Given the description of an element on the screen output the (x, y) to click on. 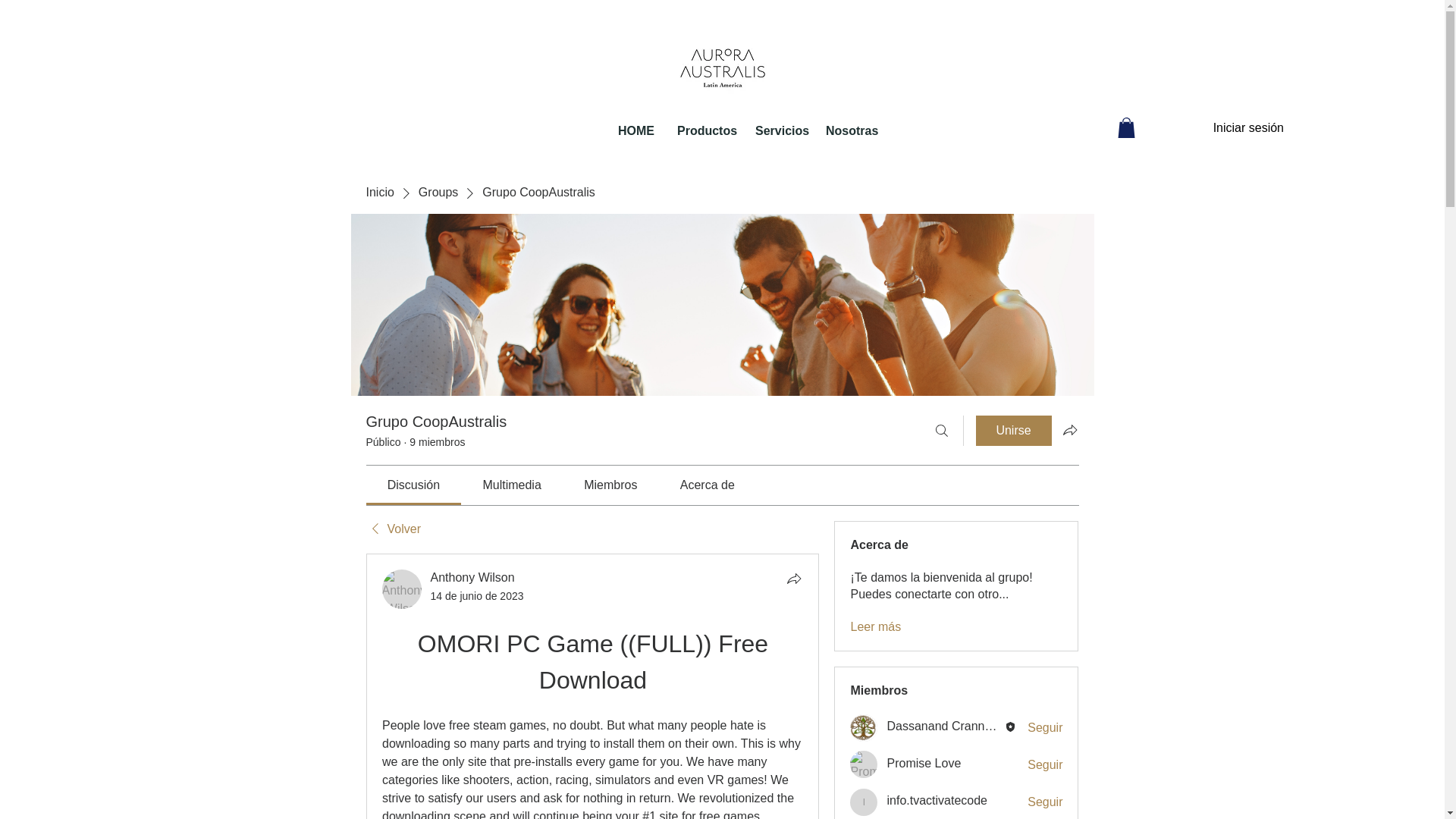
info.tvactivatecode (863, 801)
Unirse (1013, 430)
info.tvactivatecode (936, 799)
Productos (704, 130)
14 de junio de 2023 (477, 595)
Promise Love (863, 764)
Seguir (1044, 801)
Seguir (1044, 764)
Servicios (778, 130)
Groups (438, 192)
Dassanand Crannbethadh (863, 728)
Volver (392, 528)
HOME (636, 130)
Anthony Wilson (401, 589)
Inicio (379, 192)
